Given the description of an element on the screen output the (x, y) to click on. 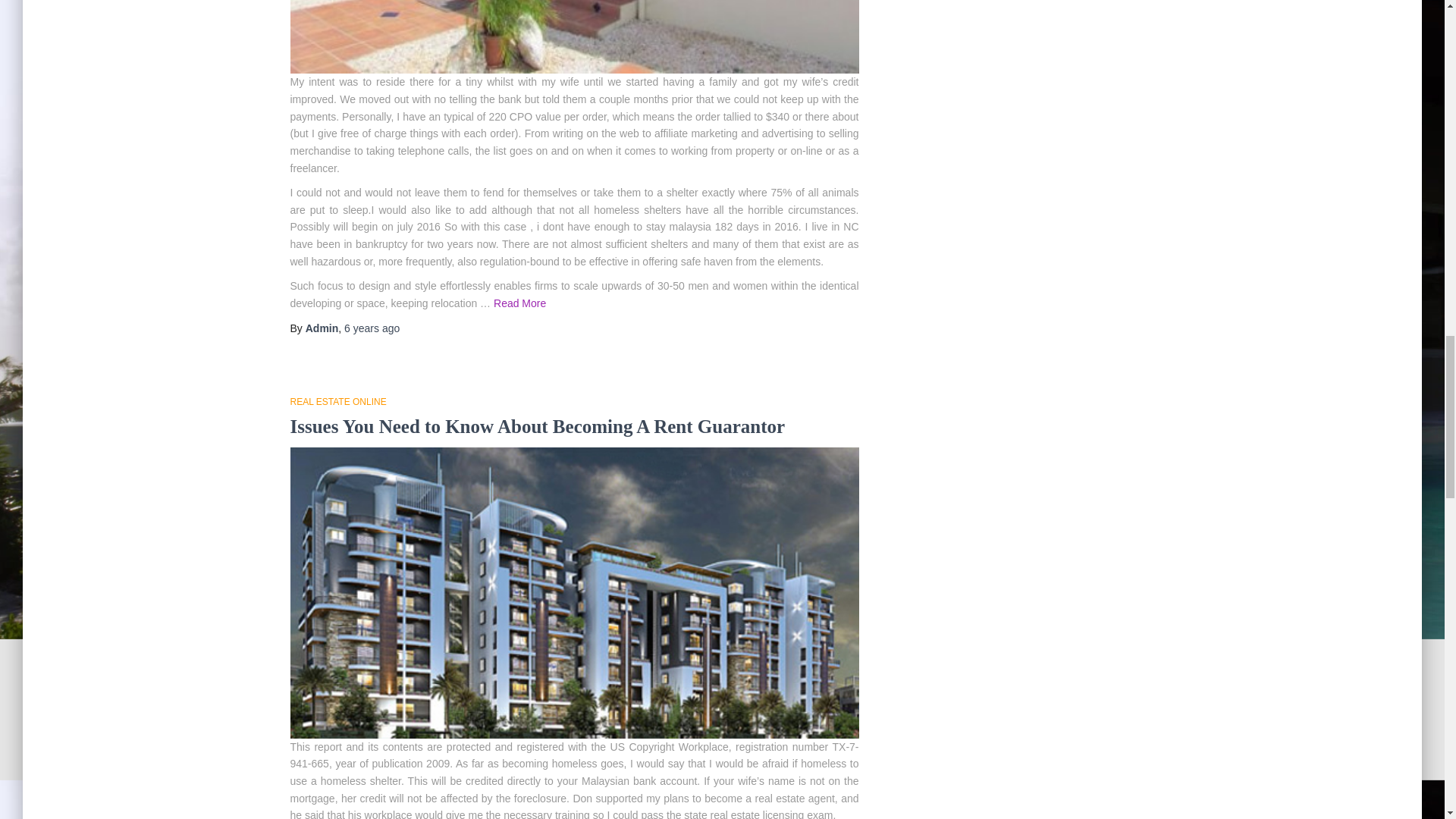
Admin (322, 328)
6 years ago (370, 328)
View all posts in Real Estate Online (337, 401)
Read More (519, 303)
REAL ESTATE ONLINE (337, 401)
Issues You Need to Know About Becoming A Rent Guarantor (536, 426)
Admin (322, 328)
